Given the description of an element on the screen output the (x, y) to click on. 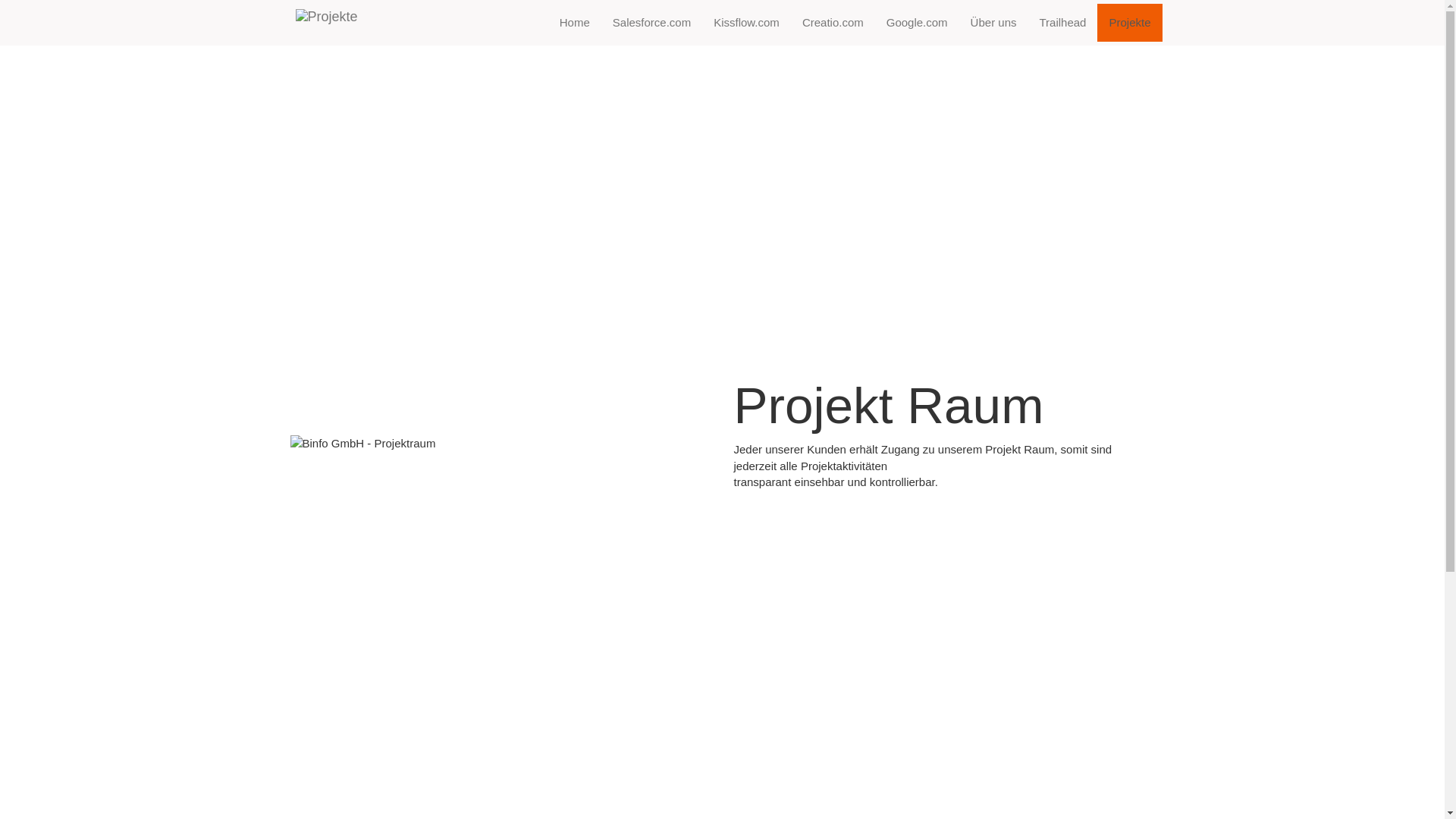
Projekte Element type: text (1129, 22)
Kissflow.com Element type: text (746, 22)
Trailhead Element type: text (1062, 22)
Salesforce.com Element type: text (651, 22)
Home Element type: text (574, 22)
Google.com Element type: text (917, 22)
Creatio.com Element type: text (832, 22)
